Given the description of an element on the screen output the (x, y) to click on. 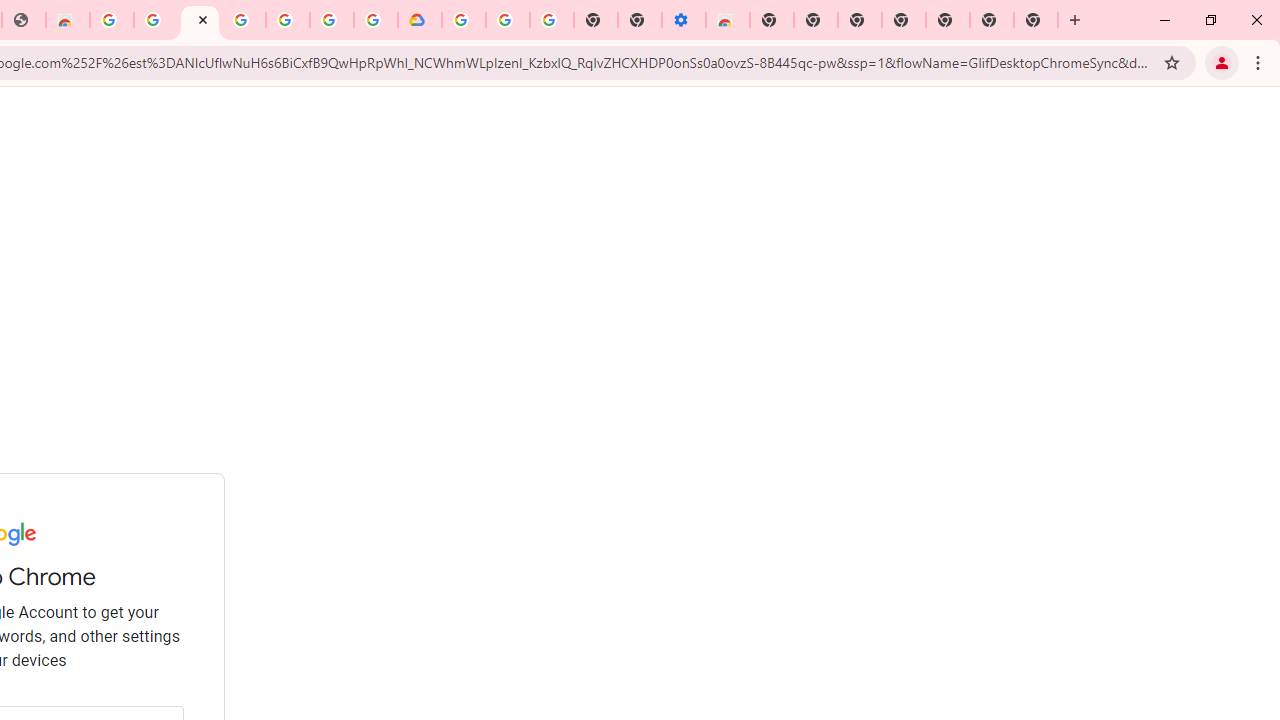
New Tab (1035, 20)
New Tab (771, 20)
Turn cookies on or off - Computer - Google Account Help (551, 20)
